Given the description of an element on the screen output the (x, y) to click on. 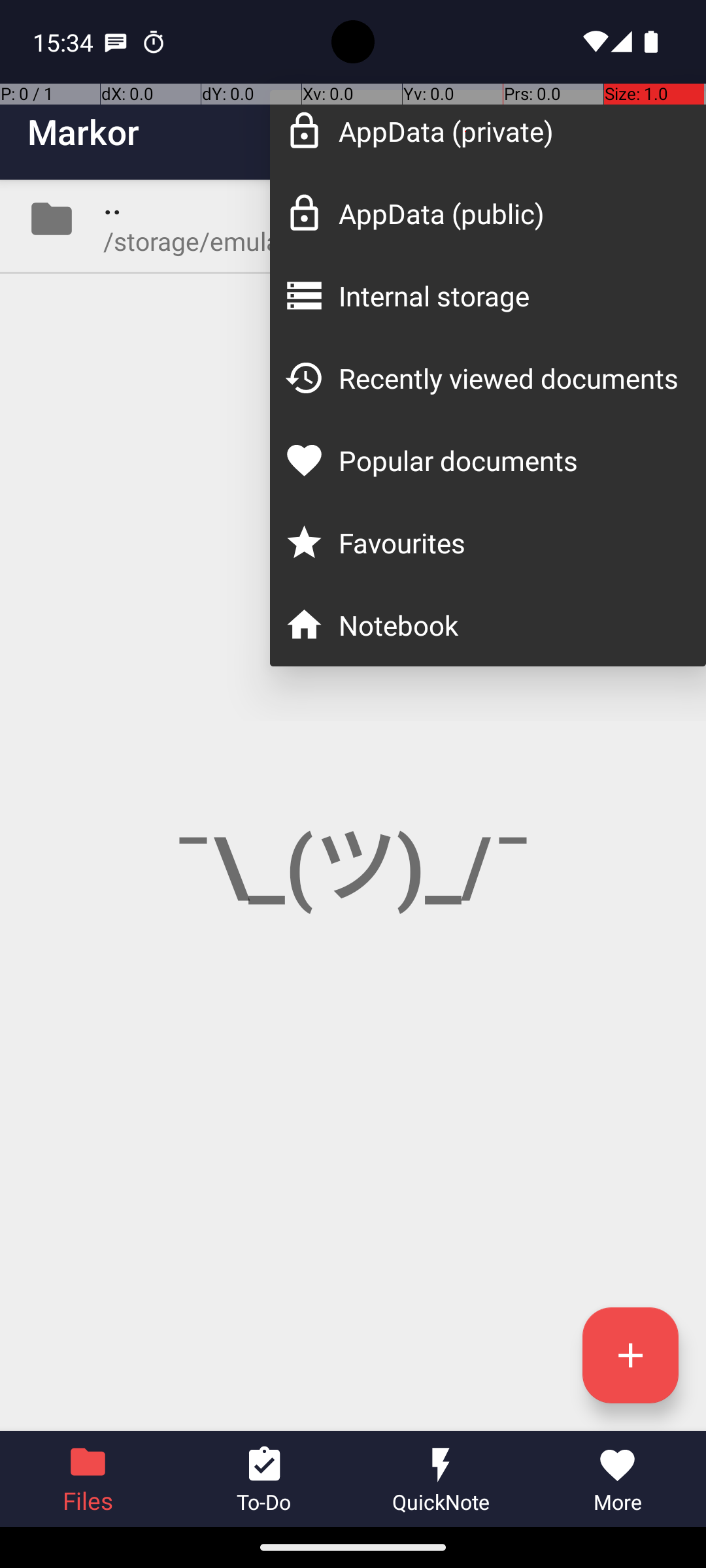
AppData (private) Element type: android.widget.TextView (508, 130)
AppData (public) Element type: android.widget.TextView (508, 212)
Internal storage Element type: android.widget.TextView (508, 295)
Recently viewed documents Element type: android.widget.TextView (508, 377)
Popular documents Element type: android.widget.TextView (508, 459)
Favourites Element type: android.widget.TextView (508, 542)
Notebook Element type: android.widget.TextView (508, 624)
SMS Messenger notification: Emily Ibrahim Element type: android.widget.ImageView (115, 41)
